Given the description of an element on the screen output the (x, y) to click on. 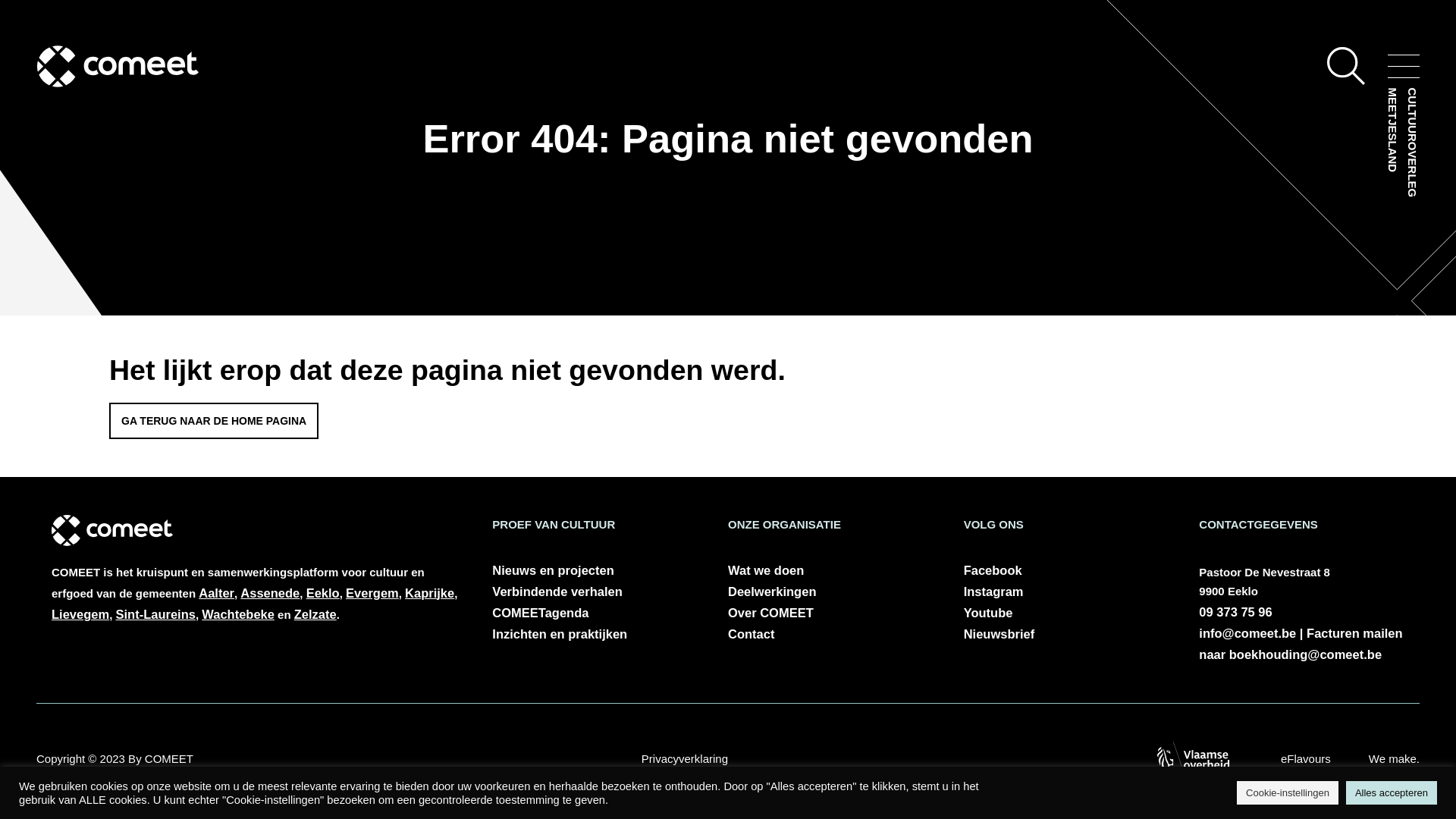
Over COMEET Element type: text (830, 612)
COMEETagenda Element type: text (594, 612)
Wachtebeke Element type: text (237, 614)
Privacyverklaring Element type: text (684, 758)
Deelwerkingen Element type: text (830, 591)
Nieuwsbrief Element type: text (1066, 633)
Inzichten en praktijken Element type: text (594, 633)
Evergem Element type: text (371, 592)
Youtube Element type: text (1066, 612)
Assenede Element type: text (269, 592)
Sint-Laureins Element type: text (154, 614)
Zelzate Element type: text (315, 614)
Wat we doen Element type: text (830, 569)
Cookie-instellingen Element type: text (1287, 792)
info@comeet.be | Facturen mailen naar boekhouding@comeet.be Element type: text (1300, 643)
Contact Element type: text (830, 633)
Aalter Element type: text (216, 592)
We make. Element type: text (1393, 758)
Instagram Element type: text (1066, 591)
Verbindende verhalen Element type: text (594, 591)
Facebook Element type: text (1066, 569)
Lievegem Element type: text (80, 614)
Eeklo Element type: text (322, 592)
09 373 75 96 Element type: text (1234, 611)
eFlavours Element type: text (1305, 758)
Kaprijke Element type: text (429, 592)
Nieuws en projecten Element type: text (594, 569)
Alles accepteren Element type: text (1391, 792)
GA TERUG NAAR DE HOME PAGINA Element type: text (213, 420)
